Given the description of an element on the screen output the (x, y) to click on. 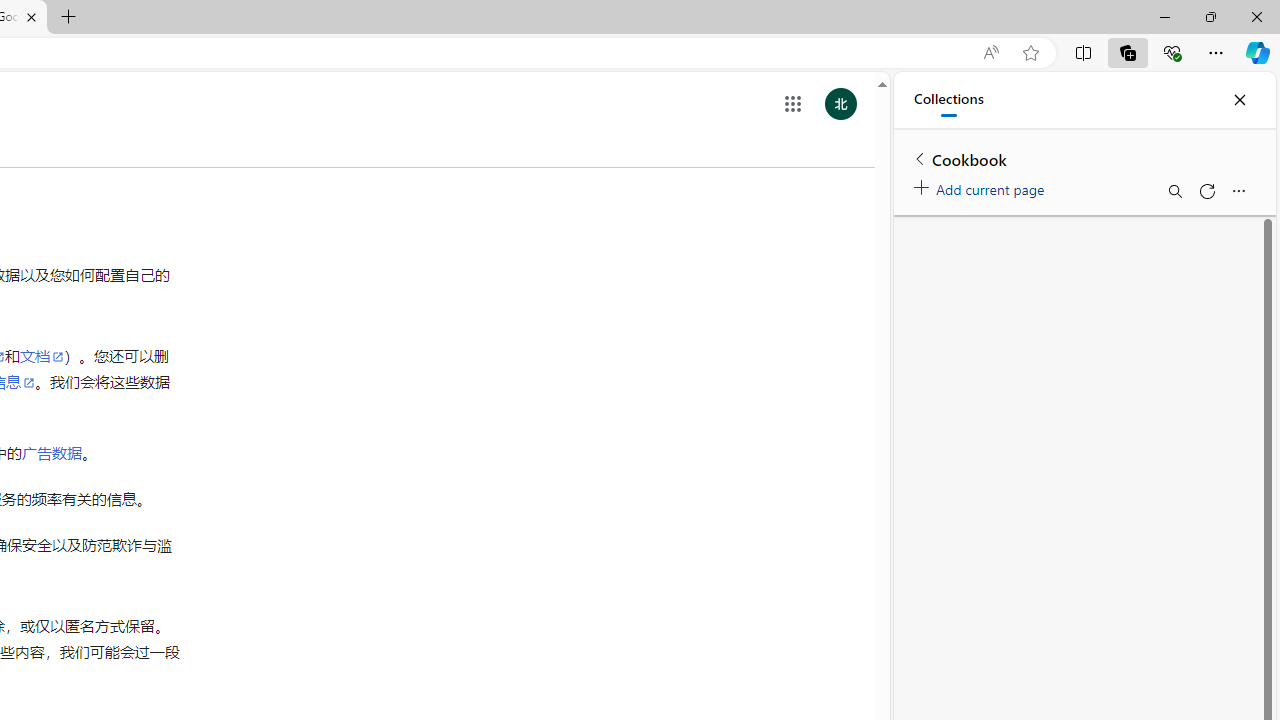
Add current page (982, 186)
More options menu (1238, 190)
